Given the description of an element on the screen output the (x, y) to click on. 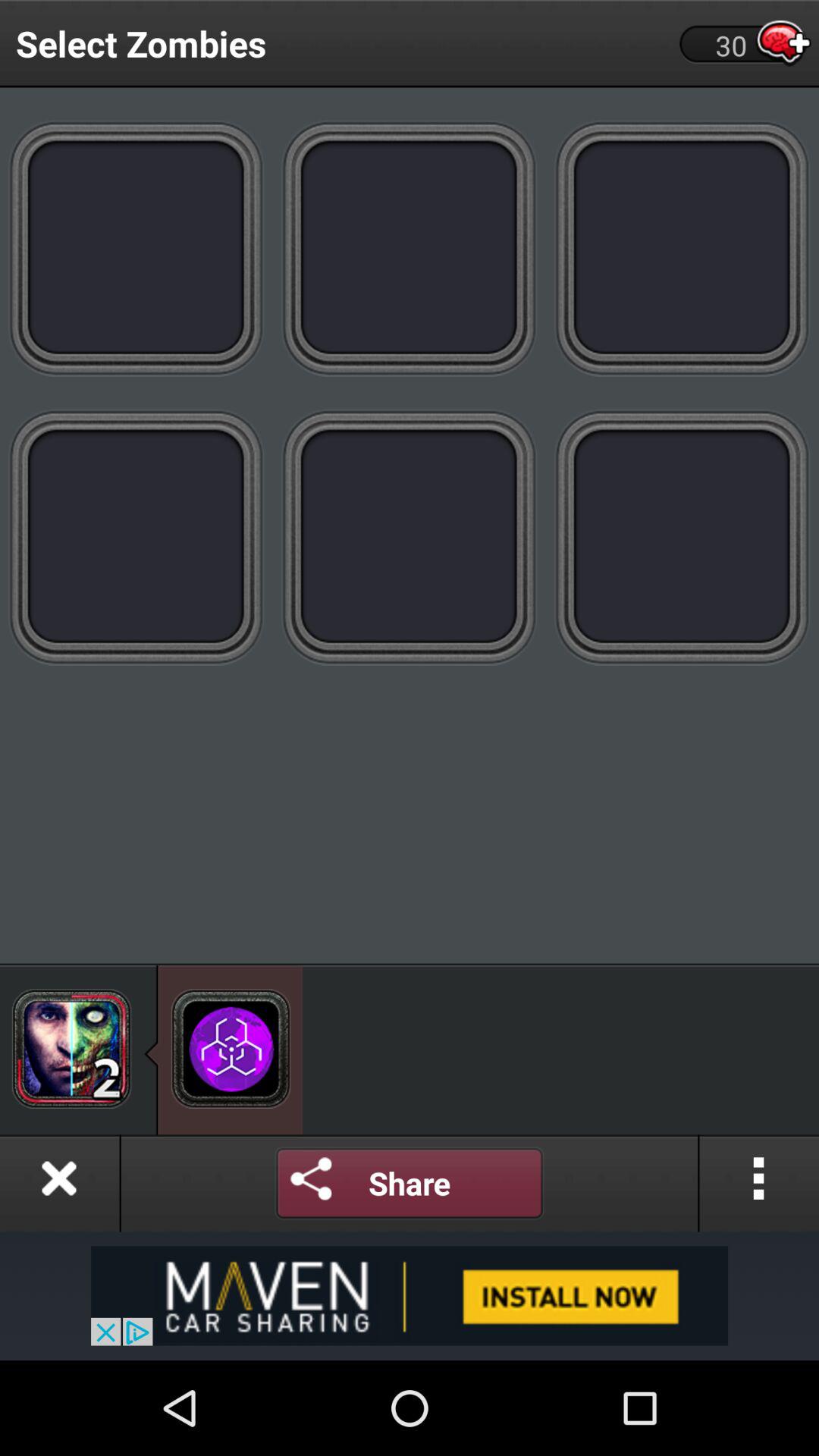
space (682, 536)
